Given the description of an element on the screen output the (x, y) to click on. 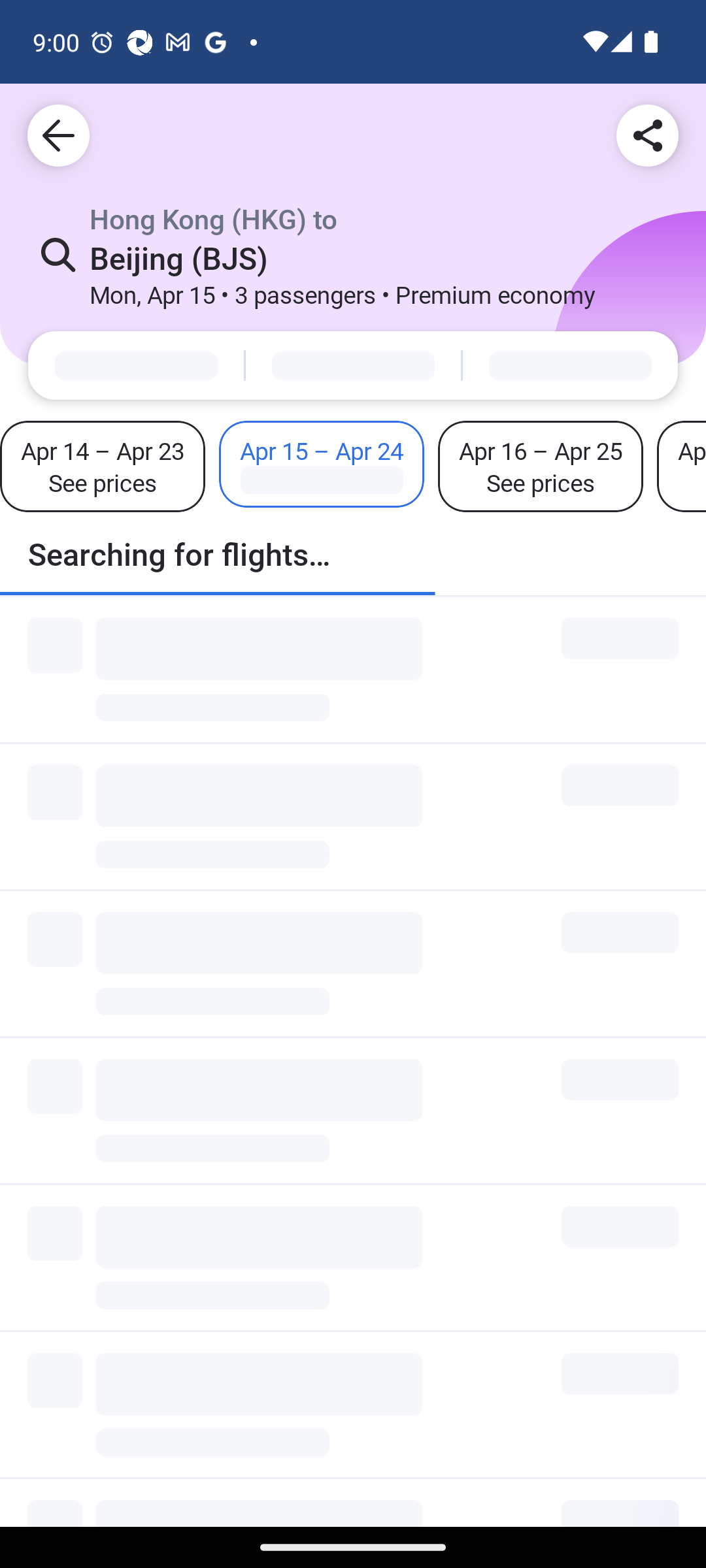
Apr 14 – Apr 23 See prices (102, 466)
Apr 15 – Apr 24 (321, 464)
Apr 16 – Apr 25 See prices (540, 466)
